Given the description of an element on the screen output the (x, y) to click on. 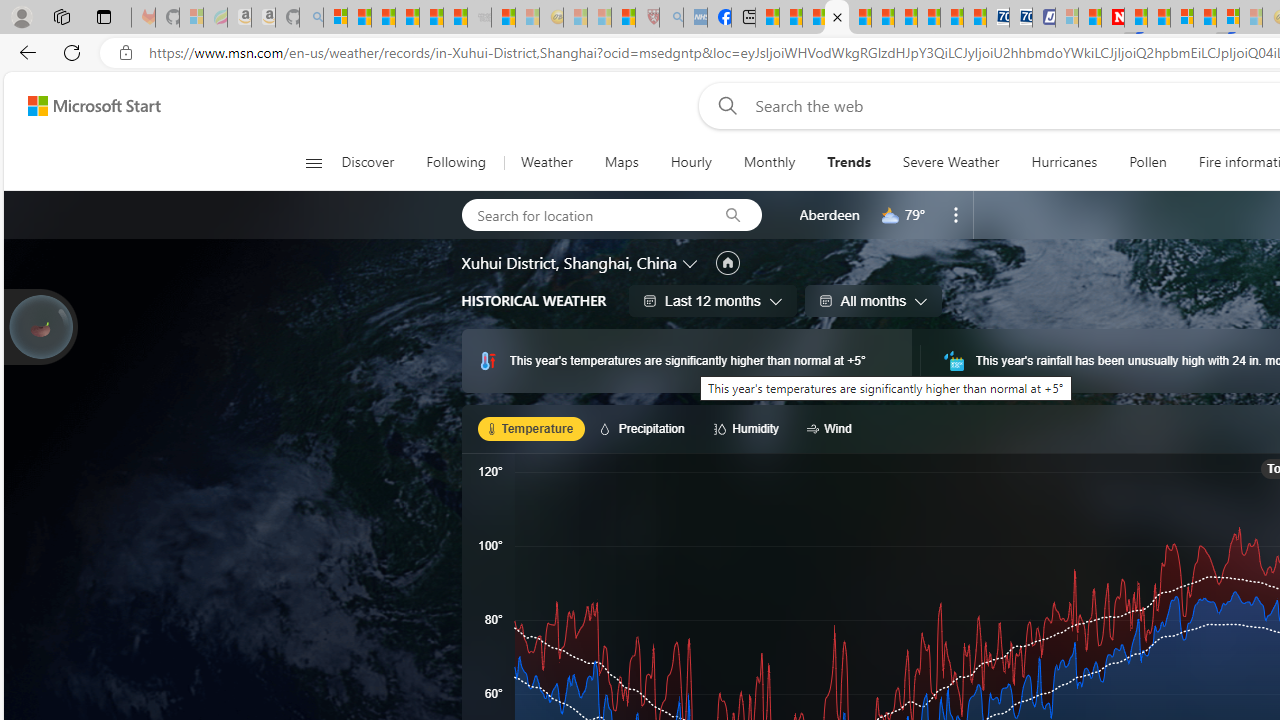
Trends (849, 162)
Local - MSN (622, 17)
Search for location (582, 214)
